Given the description of an element on the screen output the (x, y) to click on. 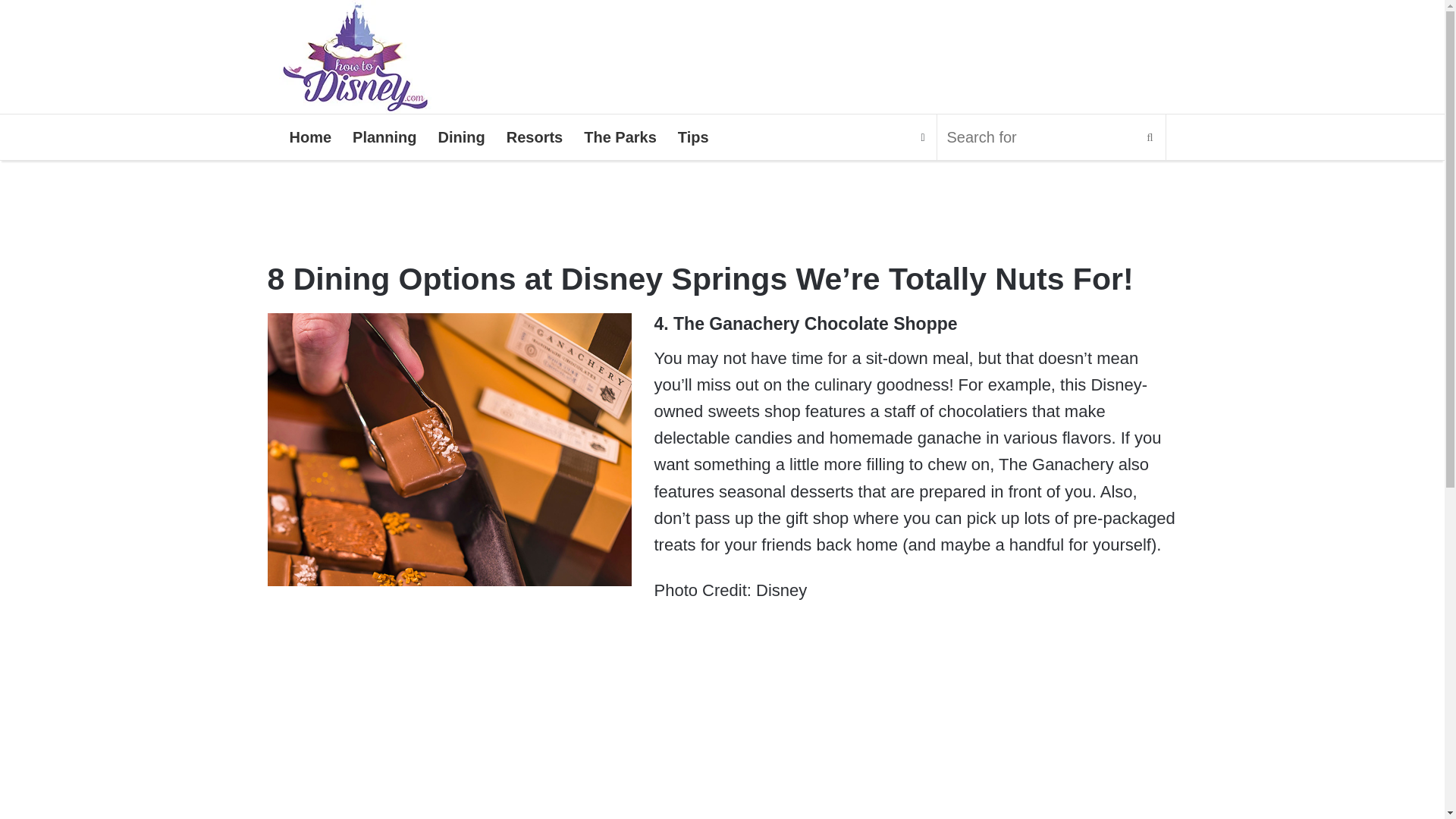
The Parks (619, 136)
Tips (692, 136)
How To Disney (355, 56)
Planning (384, 136)
Resorts (534, 136)
Home (310, 136)
Search for (1051, 136)
Dining (462, 136)
